Given the description of an element on the screen output the (x, y) to click on. 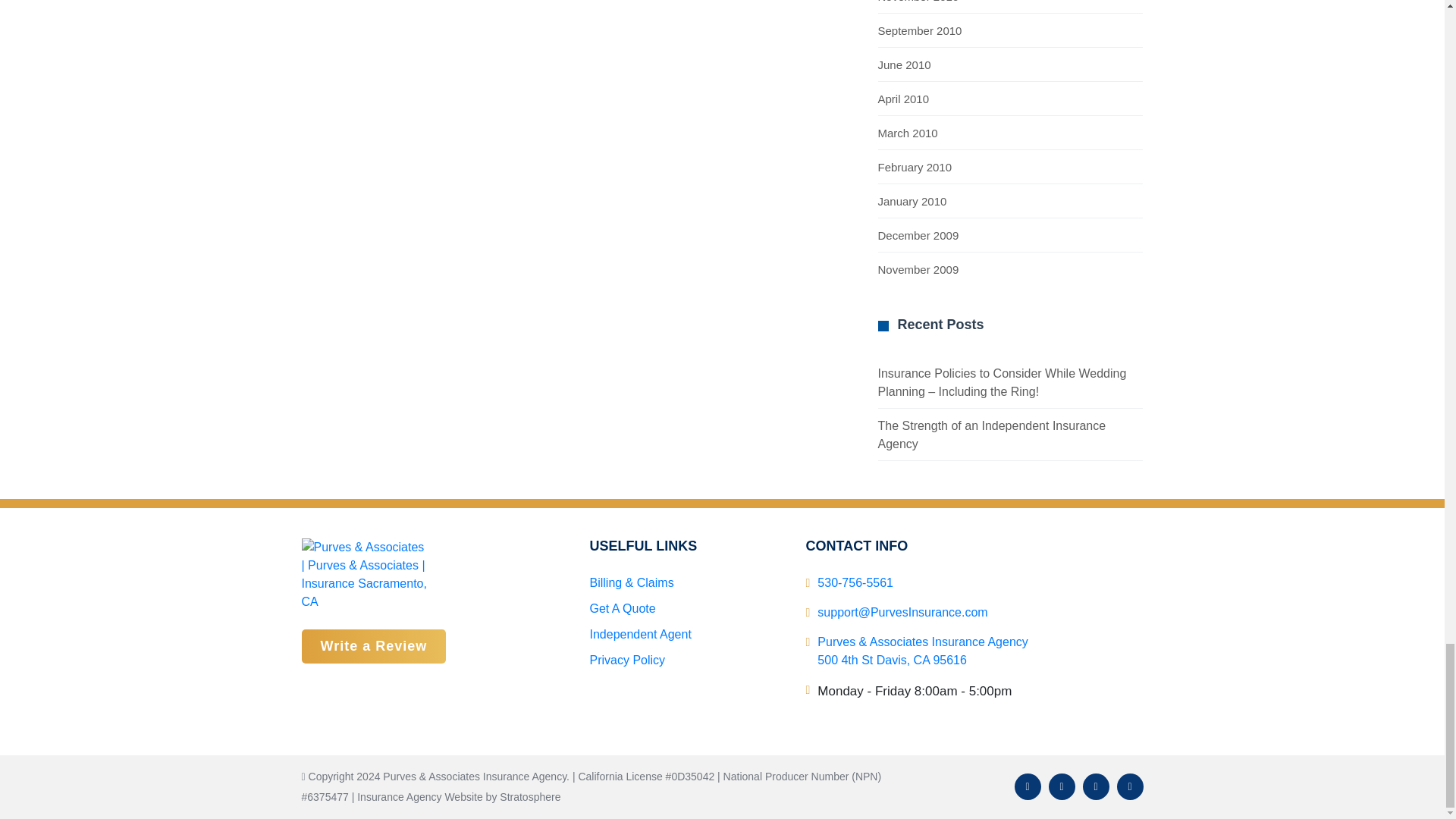
500 4th St. Davis, CA 95616 (921, 650)
Privacy Policy (627, 659)
Call Now (854, 582)
Linkedin (1096, 786)
Facebook (1027, 786)
Write a Review (373, 646)
Get A Quote (622, 608)
Independent Agent (639, 634)
Twitter (1061, 786)
Click to send Email (901, 612)
